Given the description of an element on the screen output the (x, y) to click on. 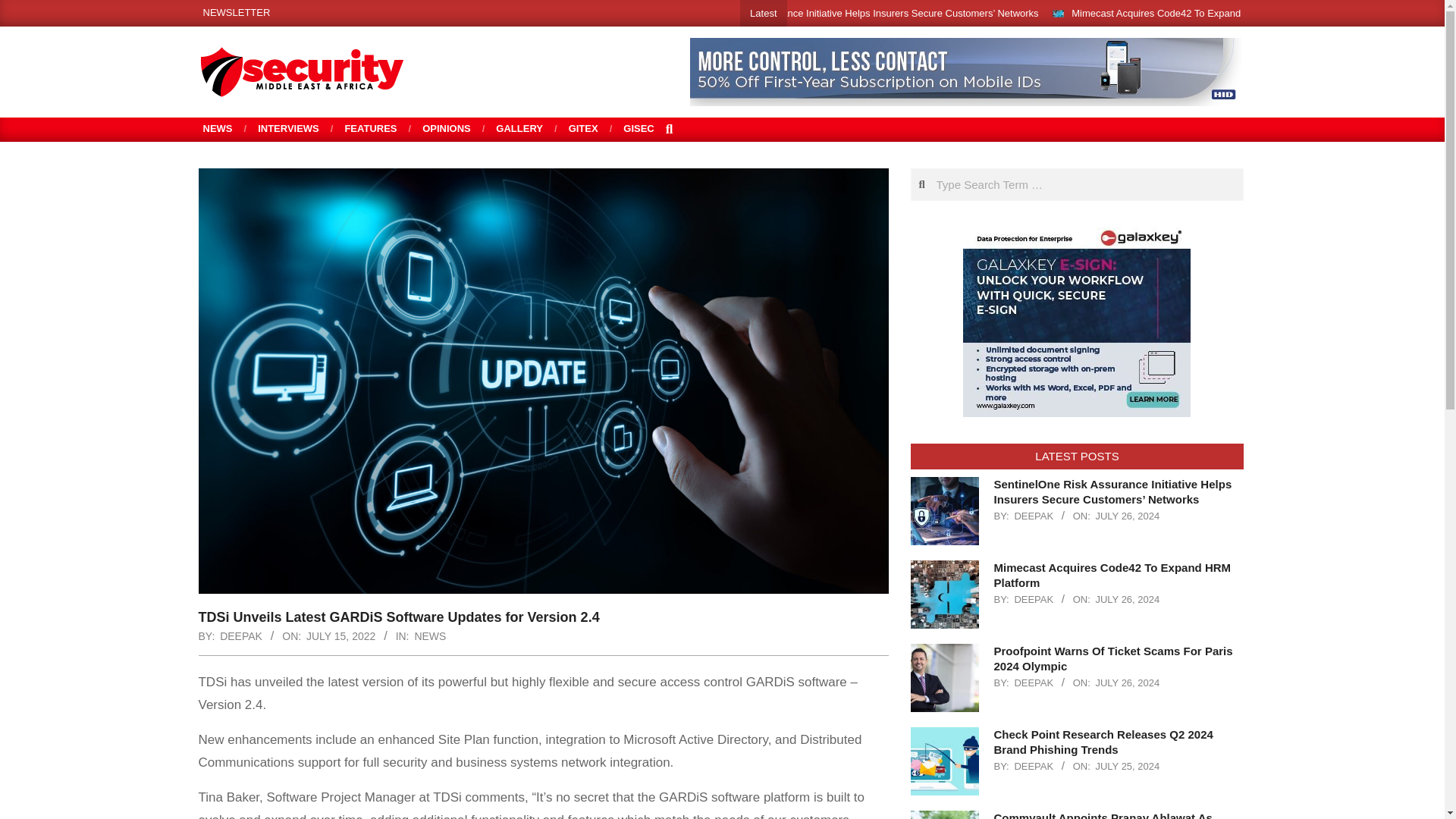
Posts by Deepak (1032, 515)
Posts by Deepak (1032, 599)
NEWSLETTER (236, 12)
Thursday, July 25, 2024, 2:27 pm (1126, 766)
Posts by Deepak (1032, 682)
Posts by Deepak (240, 635)
Posts by Deepak (1032, 766)
Friday, July 26, 2024, 11:57 am (1126, 599)
Friday, July 26, 2024, 11:15 am (1126, 682)
Mimecast Acquires Code42 To Expand HRM Platform (1187, 12)
Friday, July 26, 2024, 4:59 pm (1126, 515)
Friday, July 15, 2022, 11:47 am (340, 635)
